Given the description of an element on the screen output the (x, y) to click on. 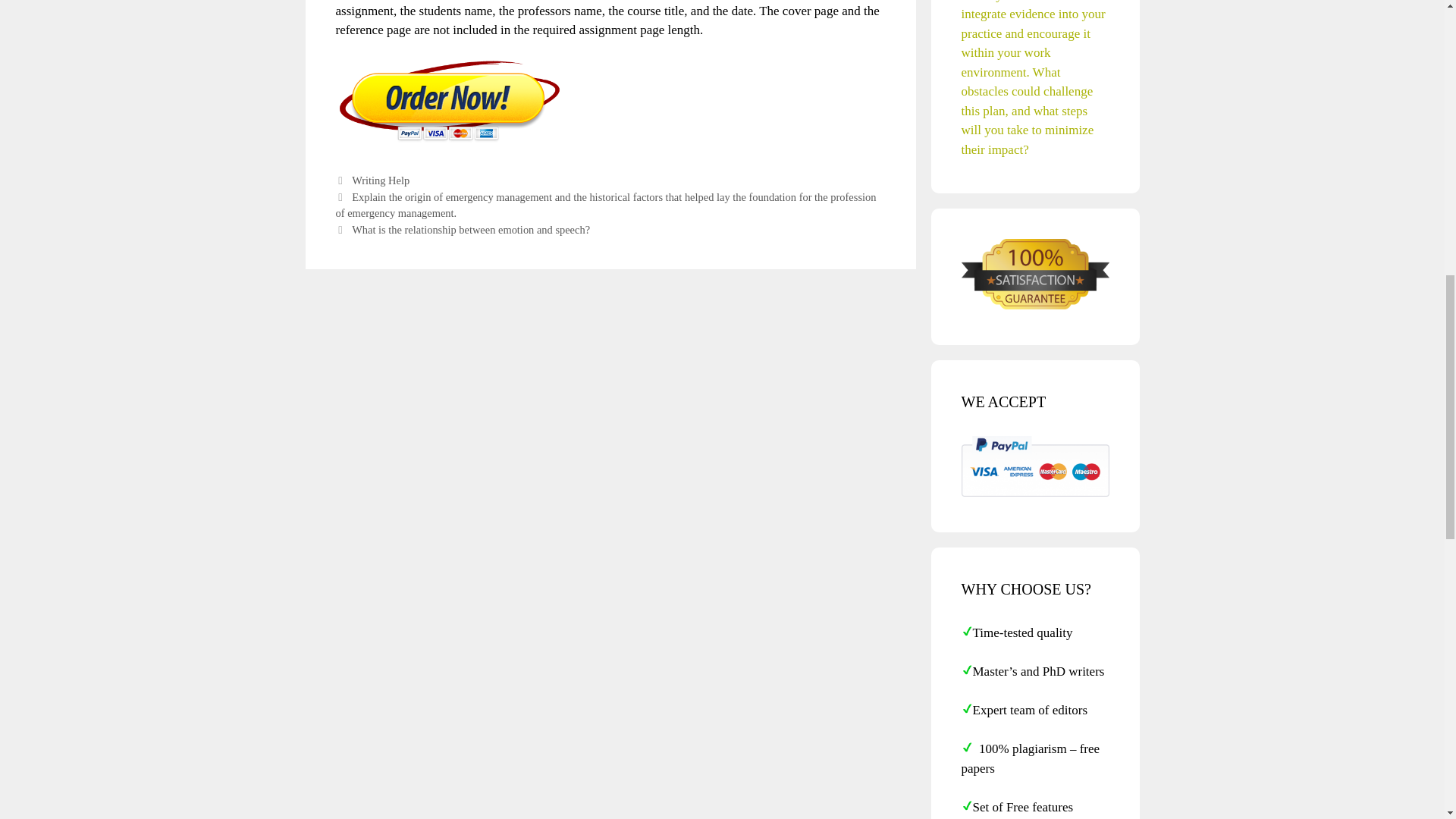
Writing Help (380, 180)
Previous (605, 205)
Click to Order (448, 140)
What is the relationship between emotion and speech? (470, 229)
Next (461, 229)
